Given the description of an element on the screen output the (x, y) to click on. 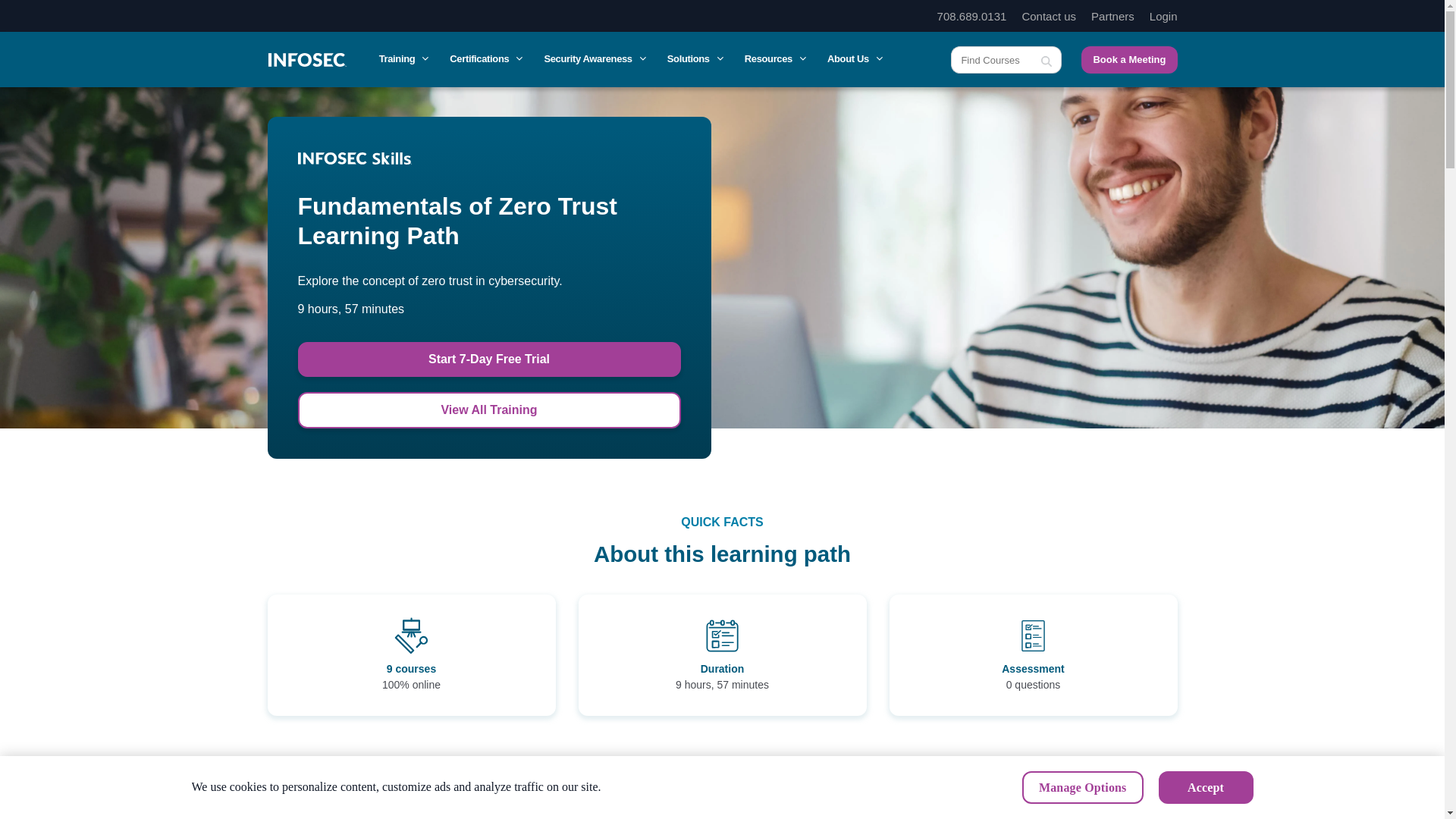
Contact us (1048, 15)
Login (1163, 15)
Certifications (484, 59)
Partners (1112, 15)
Contact us (1048, 15)
Training (402, 59)
708.689.0131 (972, 15)
708.689.0131 (972, 15)
Book a Meeting (1128, 59)
Login (1163, 15)
